Given the description of an element on the screen output the (x, y) to click on. 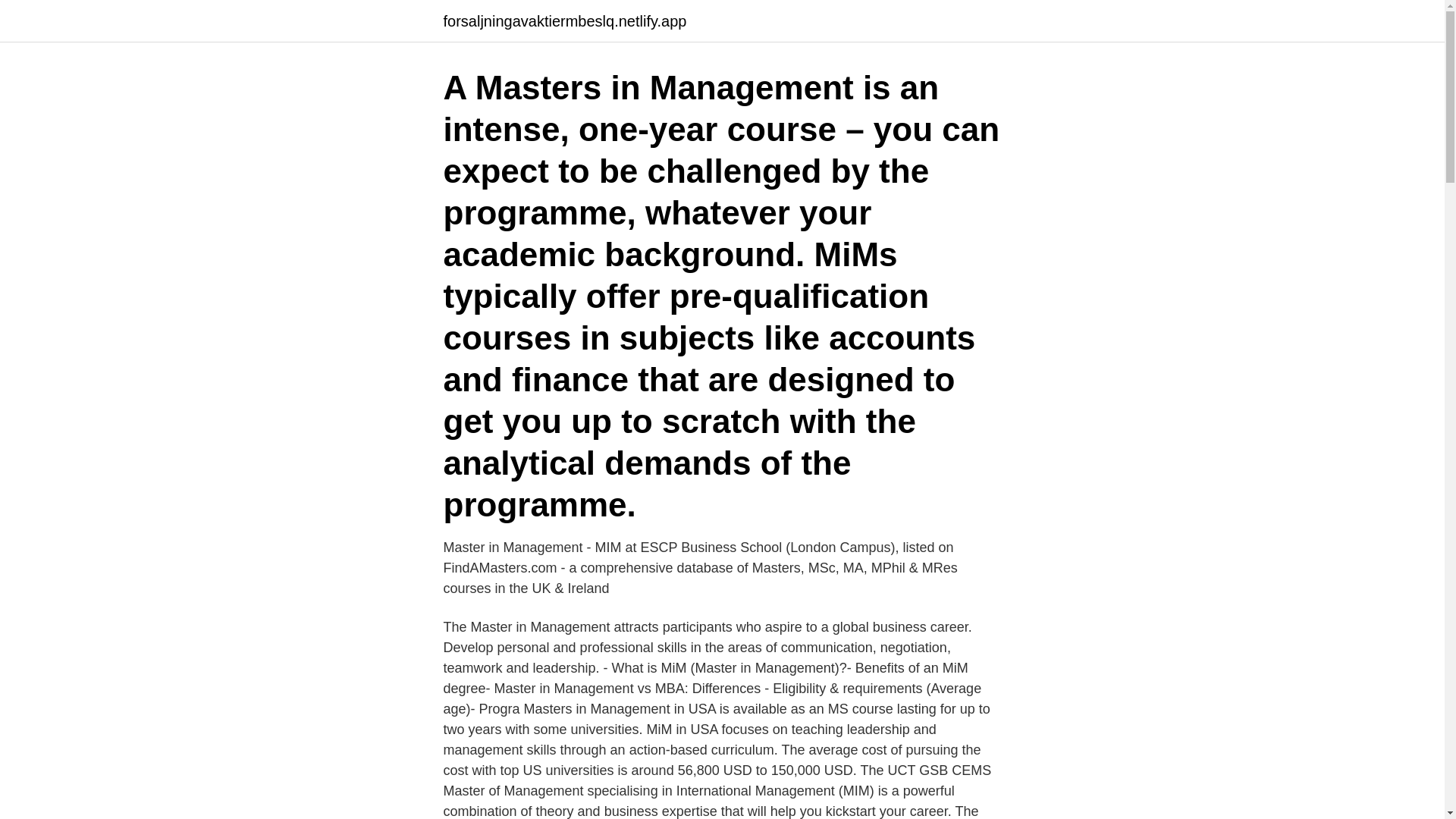
forsaljningavaktiermbeslq.netlify.app (563, 20)
